Given the description of an element on the screen output the (x, y) to click on. 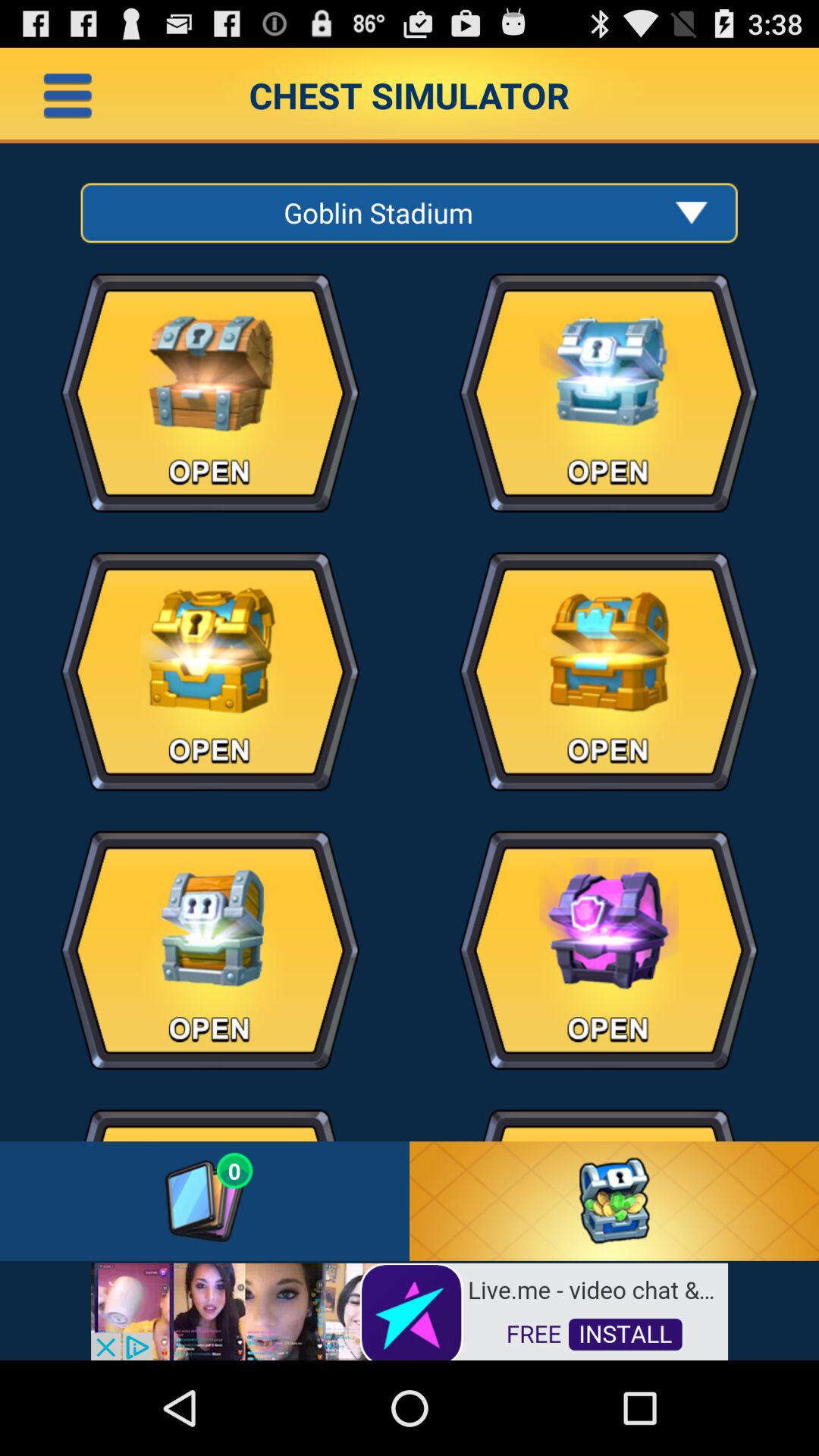
go to the first column second open (209, 751)
